Given the description of an element on the screen output the (x, y) to click on. 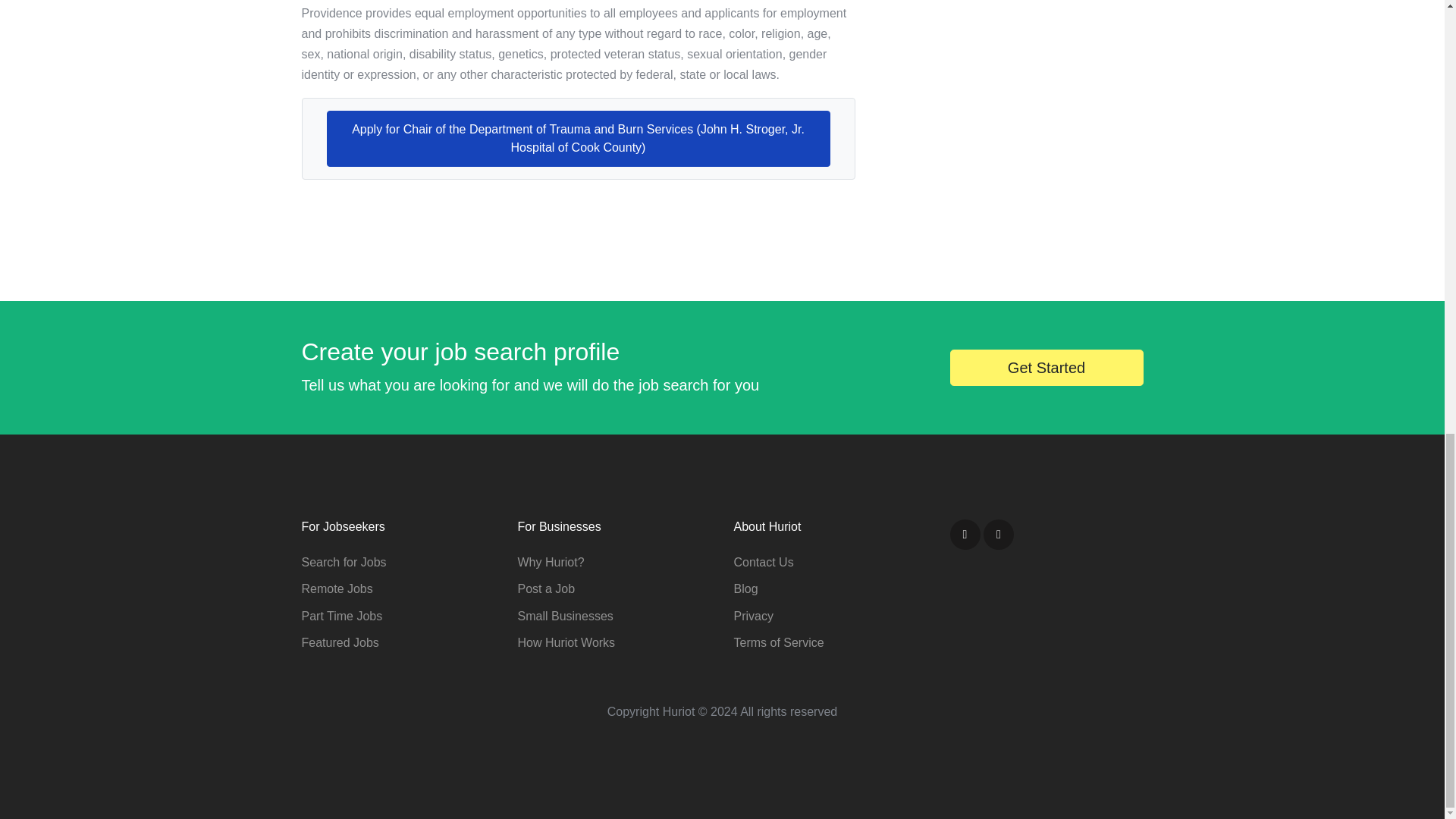
Privacy (753, 615)
How Huriot Works (565, 642)
Get Started (1045, 367)
Search for Jobs (344, 562)
Small Businesses (564, 615)
Why Huriot? (549, 562)
Featured Jobs (339, 642)
Remote Jobs (336, 588)
Part Time Jobs (341, 615)
Contact Us (763, 562)
Post a Job (545, 588)
Terms of Service (778, 642)
Blog (745, 588)
